Given the description of an element on the screen output the (x, y) to click on. 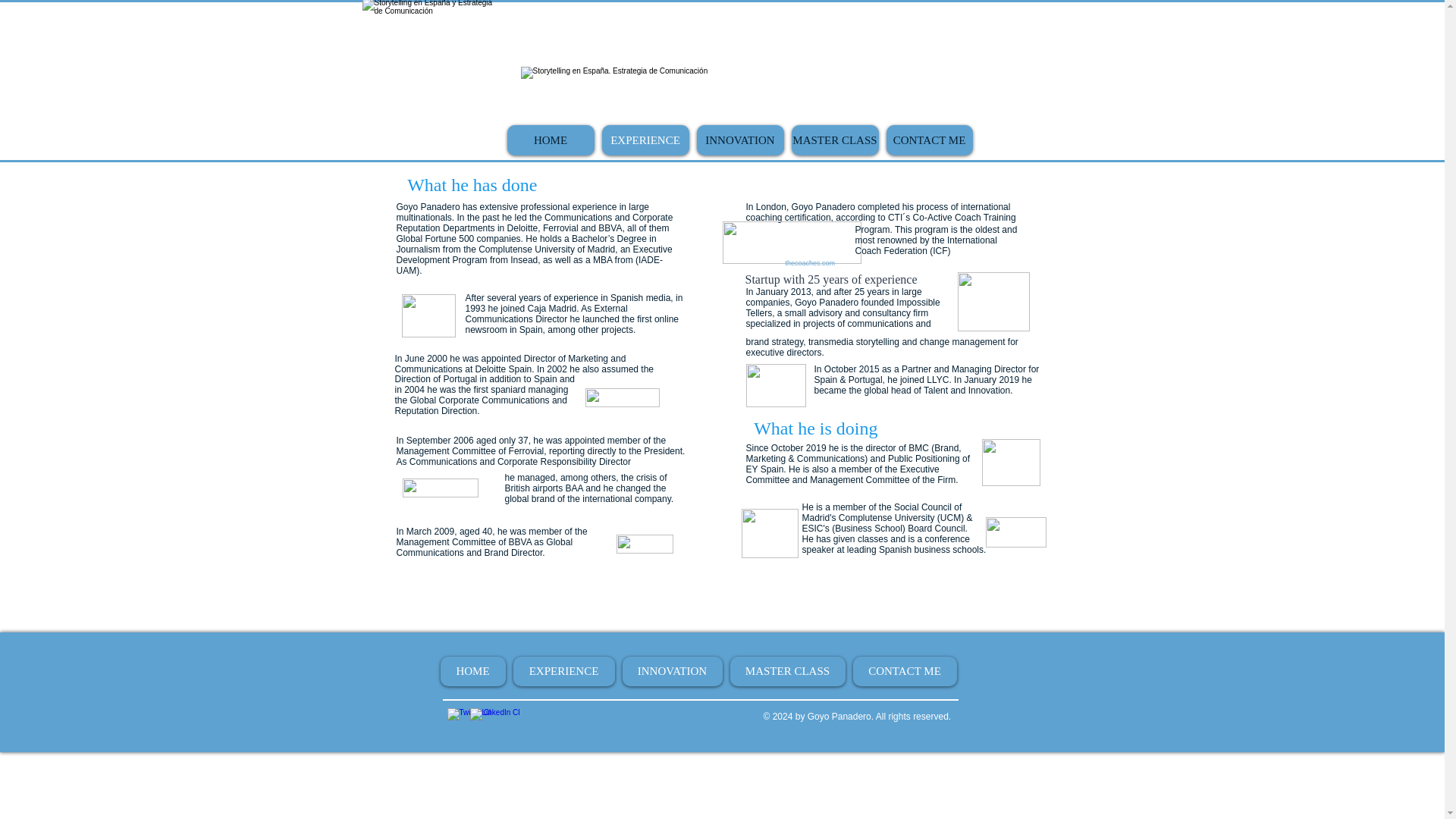
bbva logo.jpg (643, 543)
CONTACT ME (903, 671)
CONTACT ME (928, 140)
INNOVATION (671, 671)
deloitte.jpg (622, 397)
INNOVATION (739, 140)
thecoaches.com (810, 262)
EY.png (1010, 462)
EXPERIENCE (563, 671)
EXPERIENCE (645, 140)
